Given the description of an element on the screen output the (x, y) to click on. 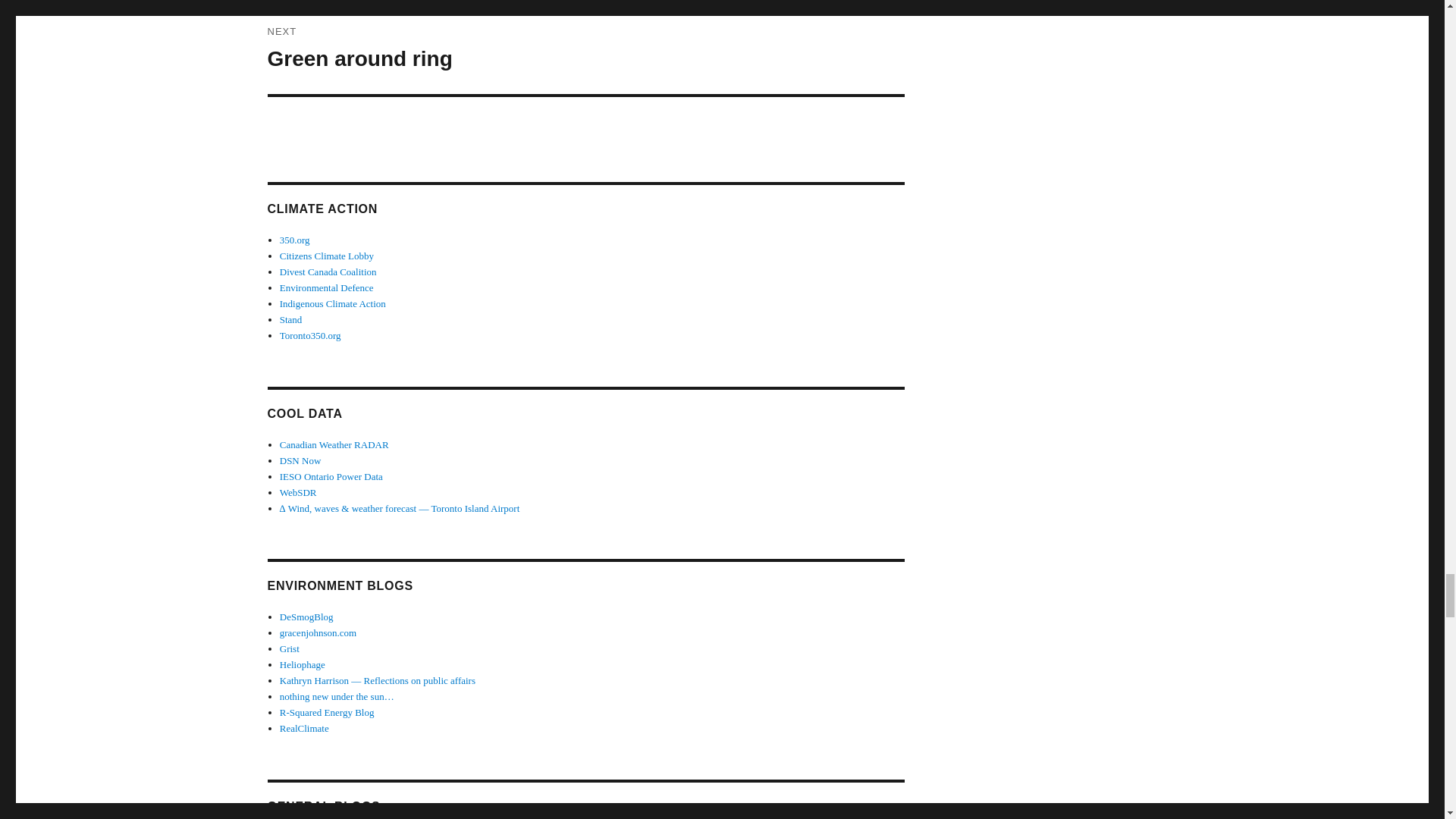
Indigenous Climate Action (332, 303)
Inspiring change (326, 287)
To create the political will for a stable climate. (326, 255)
Canadian Universities: Divest From Fossil Fuels (328, 271)
